Given the description of an element on the screen output the (x, y) to click on. 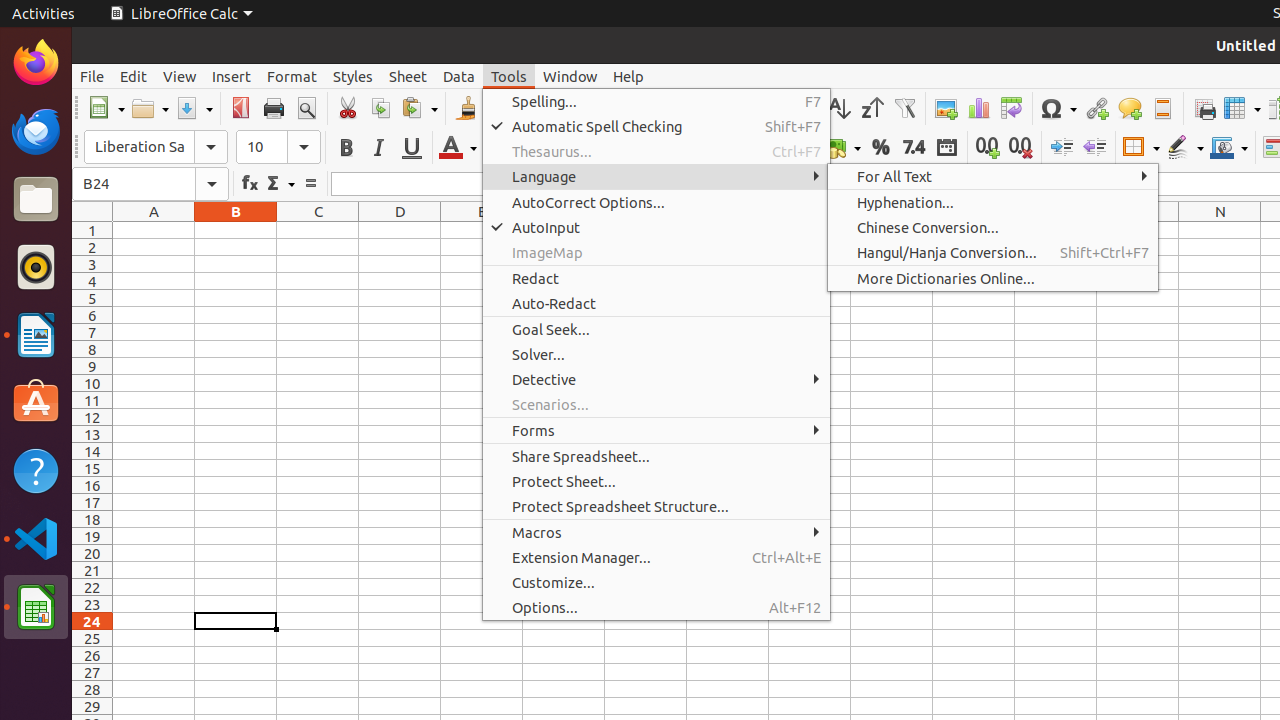
Function Wizard Element type: push-button (249, 183)
More Dictionaries Online... Element type: menu-item (993, 278)
Sheet Element type: menu (408, 76)
C1 Element type: table-cell (318, 230)
